Given the description of an element on the screen output the (x, y) to click on. 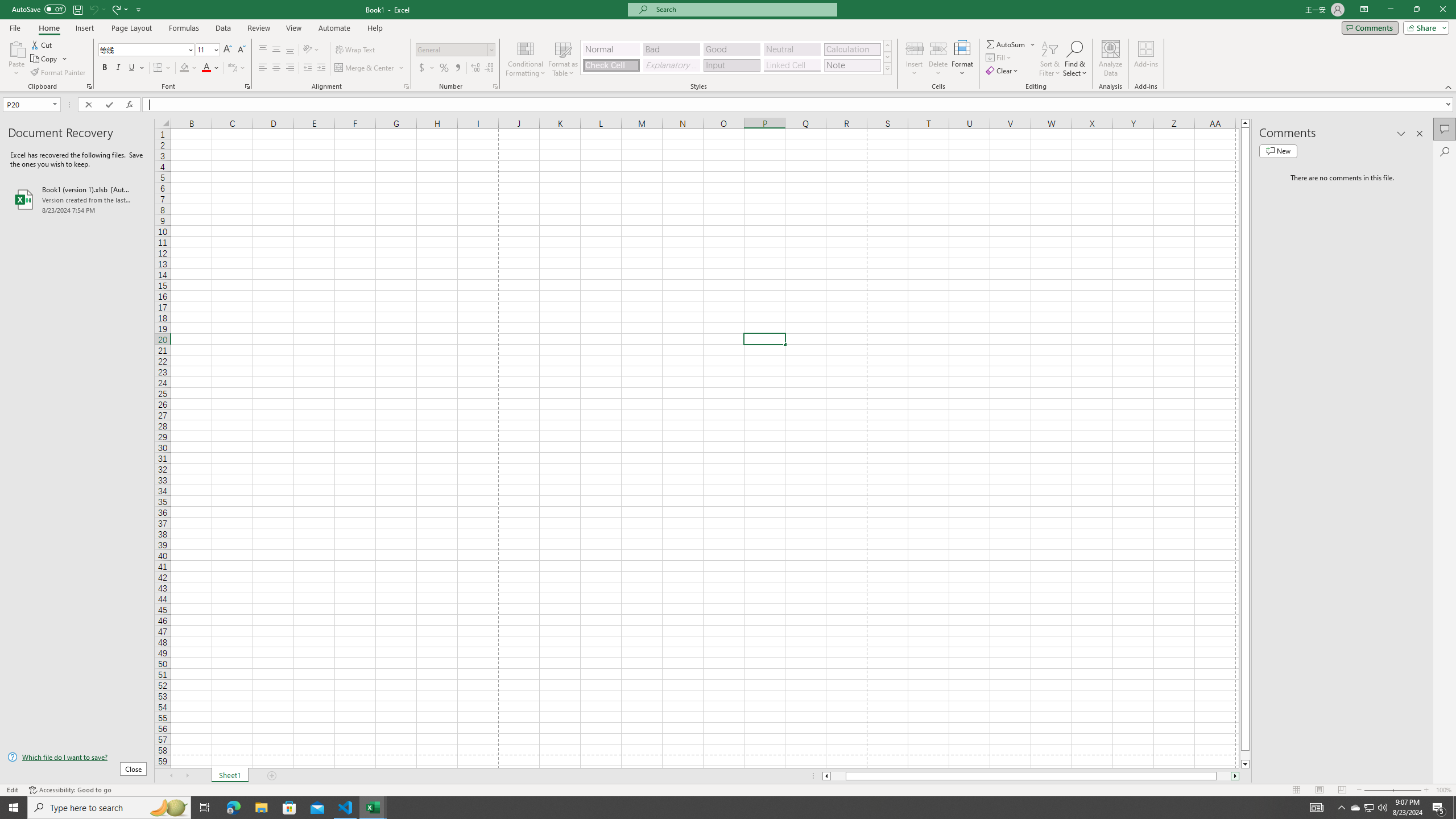
Input (731, 65)
Bottom Align (290, 49)
New comment (1278, 151)
Format (962, 58)
Copy (45, 58)
Percent Style (443, 67)
Number Format (455, 49)
